Given the description of an element on the screen output the (x, y) to click on. 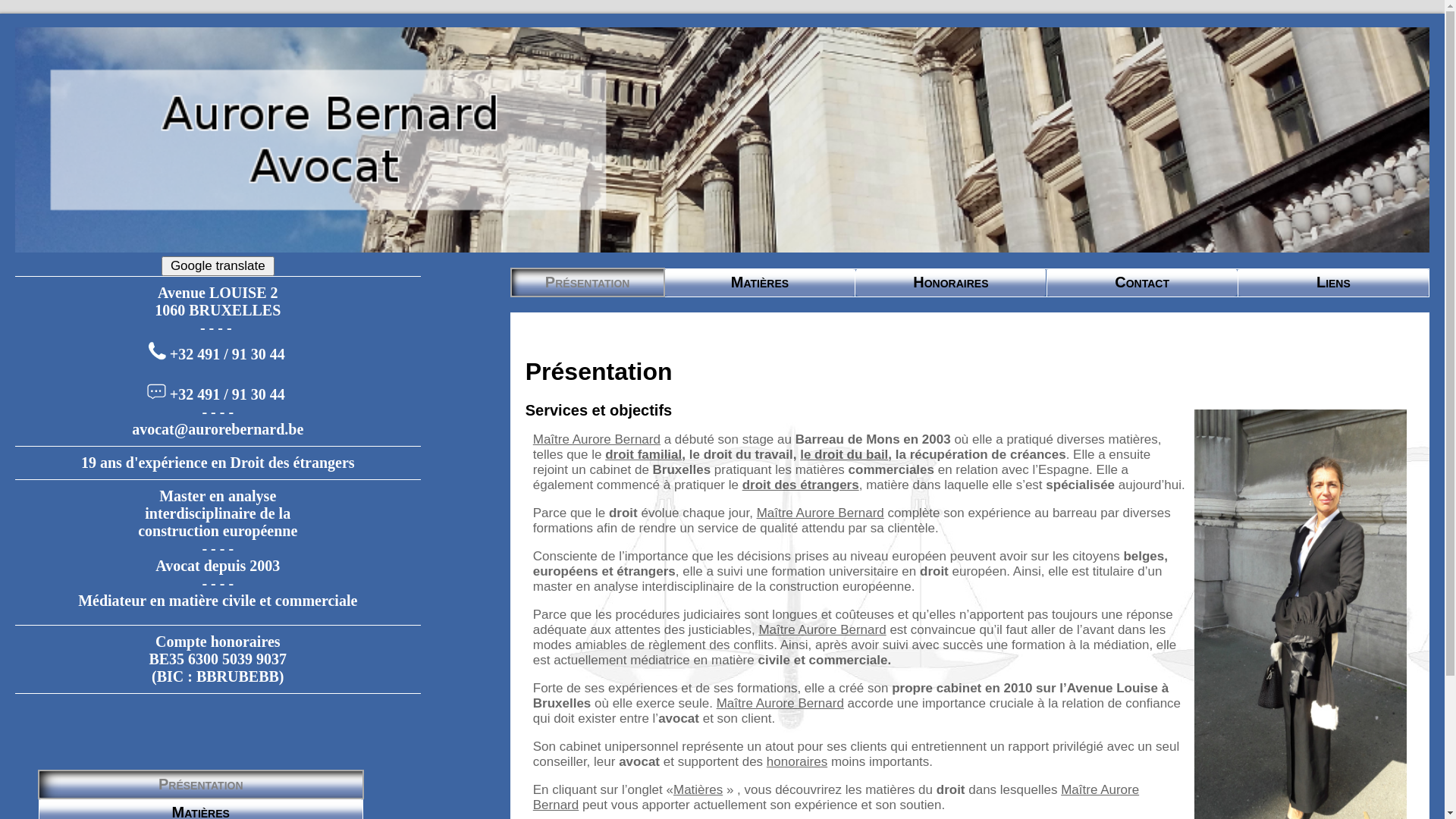
Honoraires Element type: text (950, 281)
 +32 491 / 91 30 44  Element type: text (227, 354)
honoraires Element type: text (796, 761)
Envoyer un texto Element type: hover (156, 390)
Contact Element type: text (1142, 281)
Google translate Element type: text (217, 266)
Liens Element type: text (1333, 281)
 +32 491 / 91 30 44  Element type: text (227, 393)
Coupole du Palais de justice de Bruxelles Element type: hover (722, 139)
le droit du bail Element type: text (844, 454)
droit familial Element type: text (643, 454)
avocat@aurorebernard.be Element type: text (217, 428)
